Given the description of an element on the screen output the (x, y) to click on. 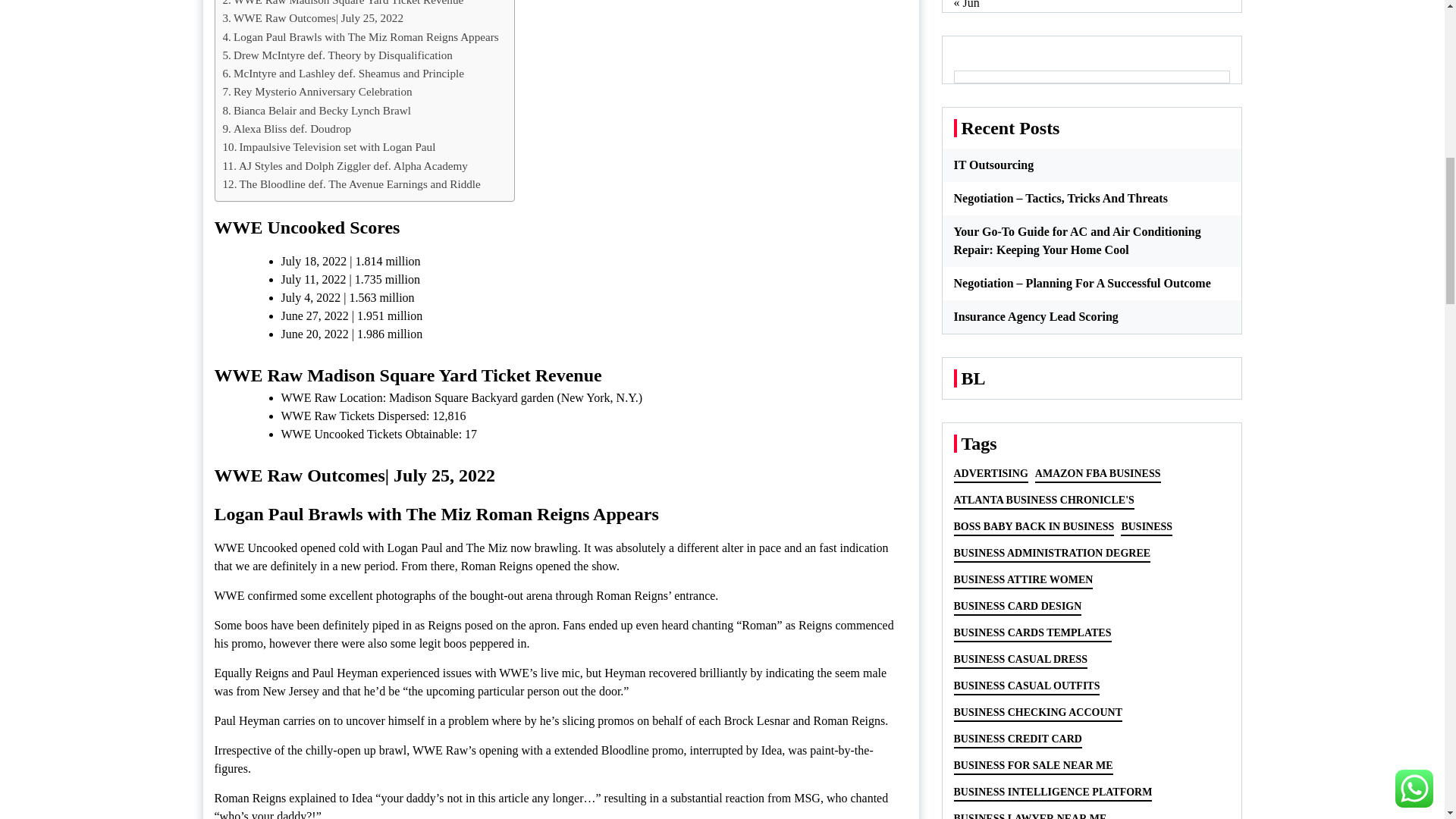
Alexa Bliss def. Doudrop (287, 128)
Bianca Belair and Becky Lynch Brawl (317, 110)
McIntyre and Lashley def. Sheamus and Principle (343, 73)
Logan Paul Brawls with The Miz Roman Reigns Appears (360, 36)
Impaulsive Television set with Logan Paul (328, 147)
Rey Mysterio Anniversary Celebration (317, 91)
Drew McIntyre def. Theory by Disqualification (337, 54)
AJ Styles and Dolph Ziggler def. Alpha Academy (344, 166)
WWE Raw Madison Square Yard Ticket Revenue (343, 4)
